Given the description of an element on the screen output the (x, y) to click on. 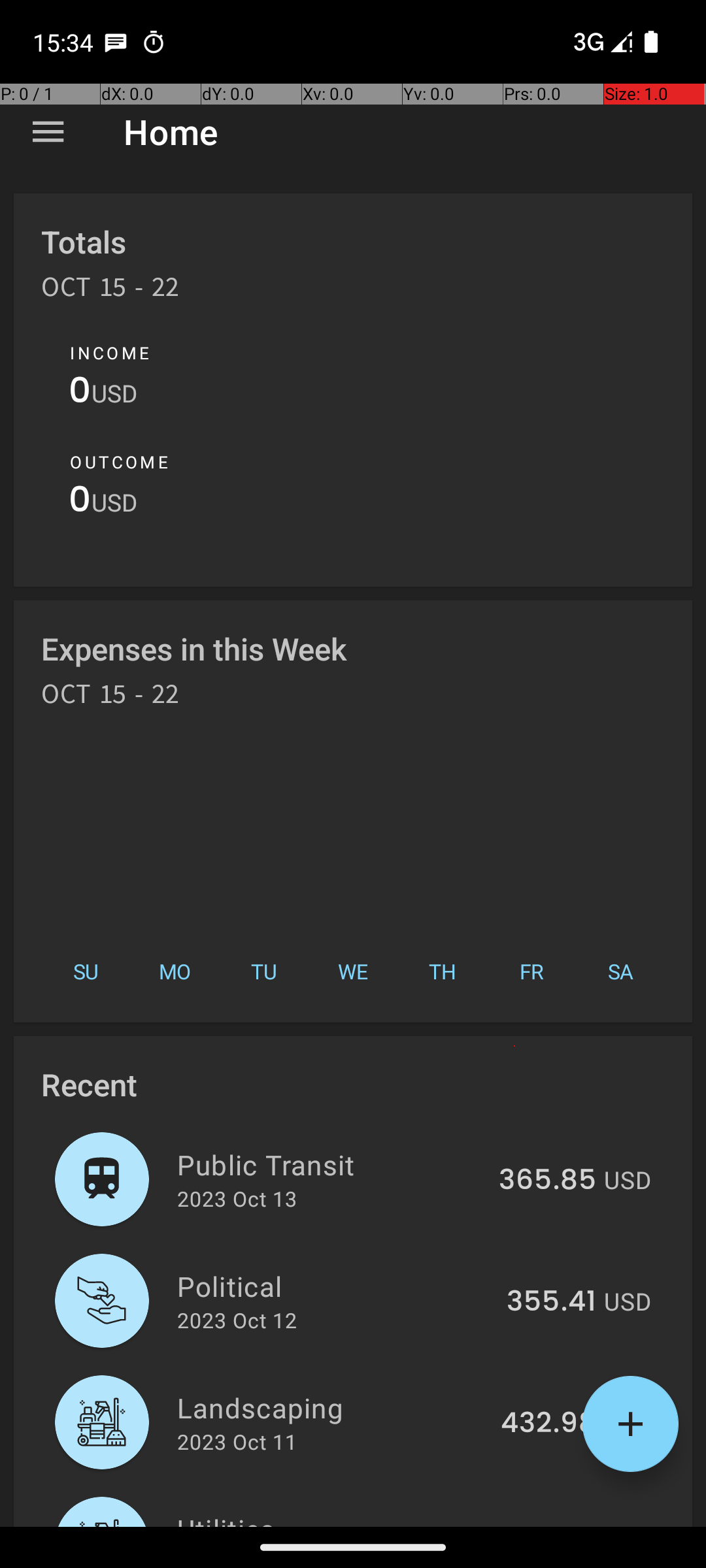
Public Transit Element type: android.widget.TextView (330, 1164)
365.85 Element type: android.widget.TextView (547, 1180)
Political Element type: android.widget.TextView (334, 1285)
355.41 Element type: android.widget.TextView (550, 1301)
Landscaping Element type: android.widget.TextView (331, 1407)
432.98 Element type: android.widget.TextView (548, 1423)
Utilities Element type: android.widget.TextView (331, 1518)
333.89 Element type: android.widget.TextView (548, 1524)
SMS Messenger notification: Sophie Gonzalez Element type: android.widget.ImageView (115, 41)
